Given the description of an element on the screen output the (x, y) to click on. 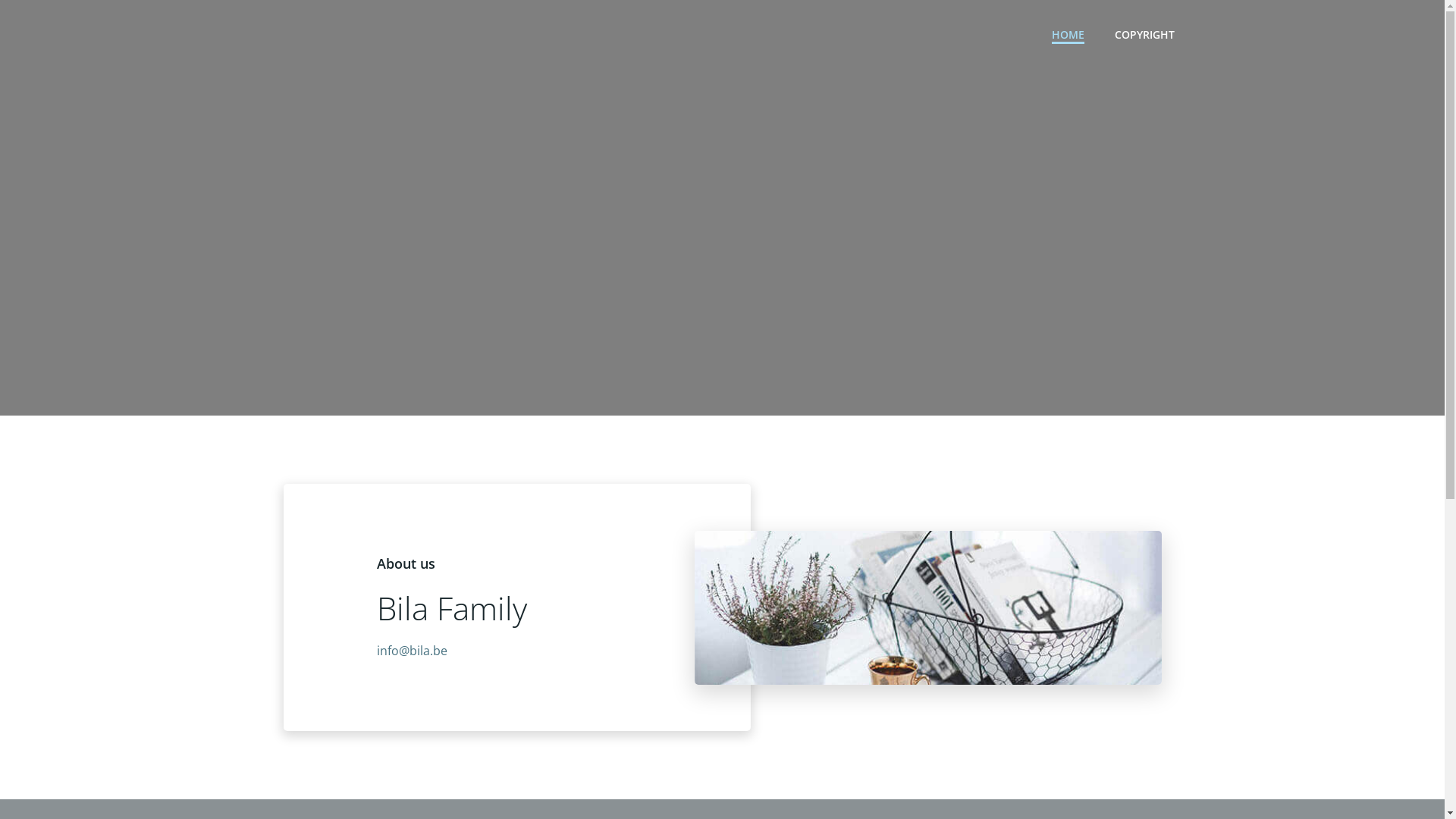
COPYRIGHT Element type: text (1144, 33)
HOME Element type: text (1067, 33)
